Given the description of an element on the screen output the (x, y) to click on. 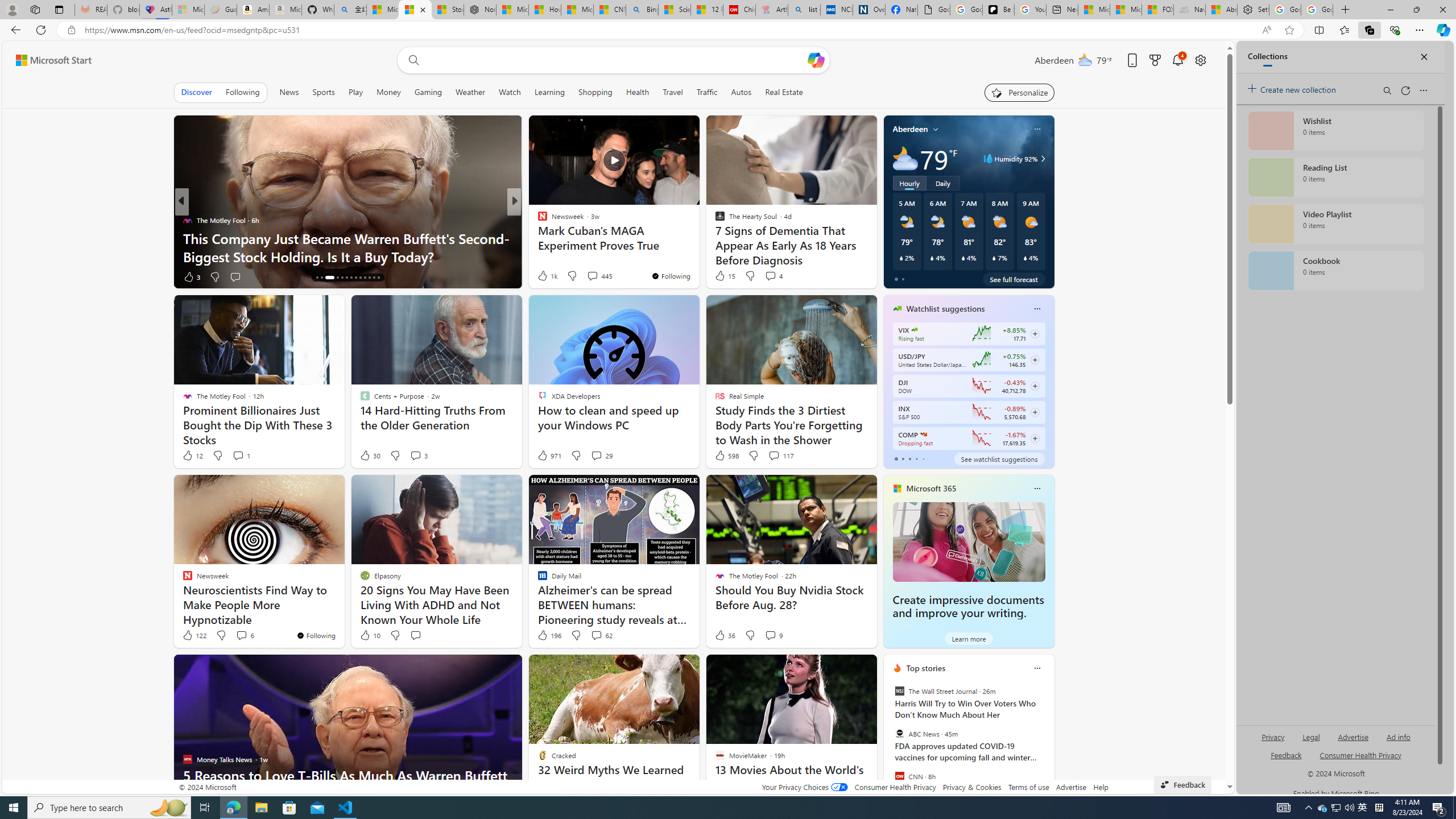
View comments 13 Comment (597, 276)
Enter your search term (617, 59)
Irish Star (537, 219)
AutomationID: tab-17 (337, 277)
next (1047, 741)
View comments 34 Comment (589, 276)
list of asthma inhalers uk - Search (804, 9)
Class: weather-current-precipitation-glyph (1024, 257)
12 Like (192, 455)
Arthritis: Ask Health Professionals - Sleeping (772, 9)
